Given the description of an element on the screen output the (x, y) to click on. 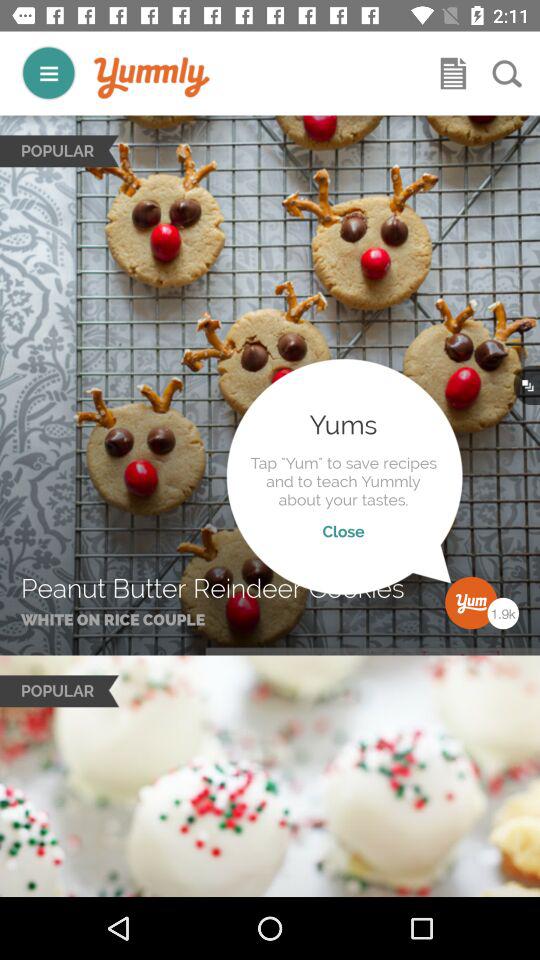
see options (48, 72)
